Given the description of an element on the screen output the (x, y) to click on. 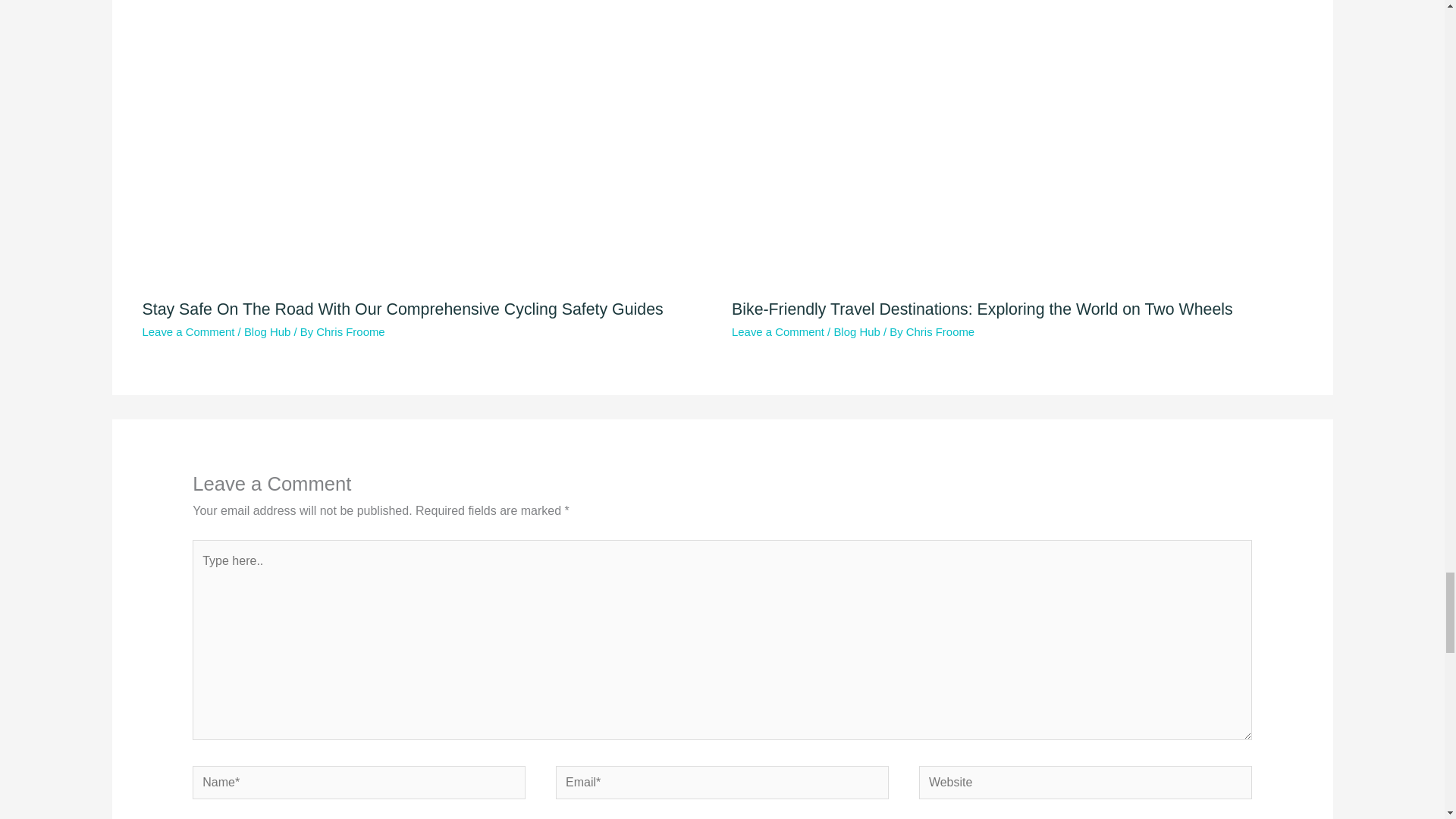
View all posts by Chris Froome (939, 331)
Leave a Comment (778, 331)
Blog Hub (266, 331)
Chris Froome (349, 331)
Leave a Comment (188, 331)
View all posts by Chris Froome (349, 331)
Chris Froome (939, 331)
Blog Hub (855, 331)
